Given the description of an element on the screen output the (x, y) to click on. 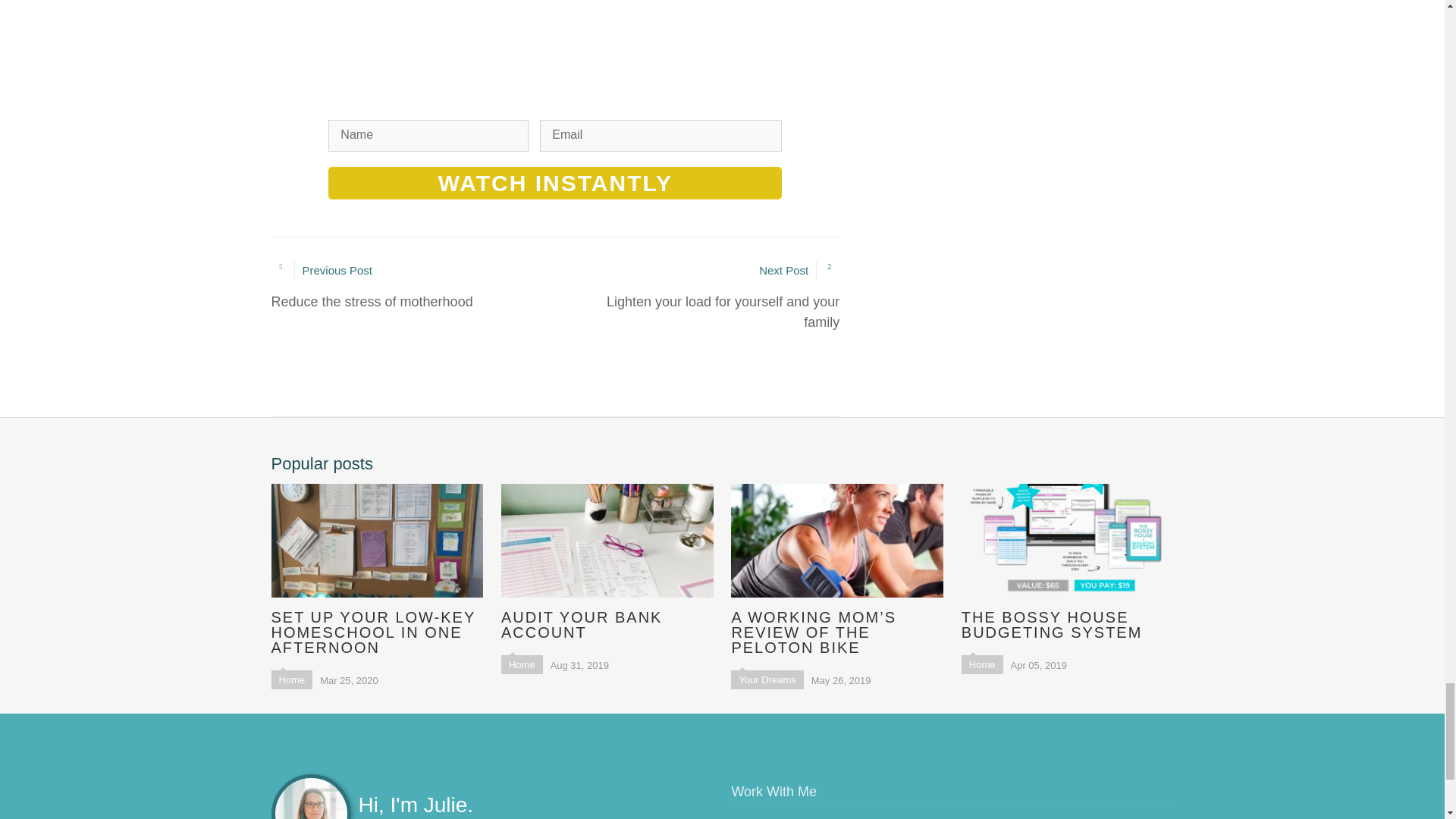
Home (291, 679)
Your Dreams (766, 679)
WATCH INSTANTLY (555, 183)
THE BOSSY HOUSE BUDGETING SYSTEM (1066, 561)
Home (697, 296)
Home (521, 664)
AUDIT YOUR BANK ACCOUNT (981, 664)
SET UP YOUR LOW-KEY HOMESCHOOL IN ONE AFTERNOON (606, 561)
Workshop: 3 Reasons Why You Can't Stay Organized (413, 286)
